Given the description of an element on the screen output the (x, y) to click on. 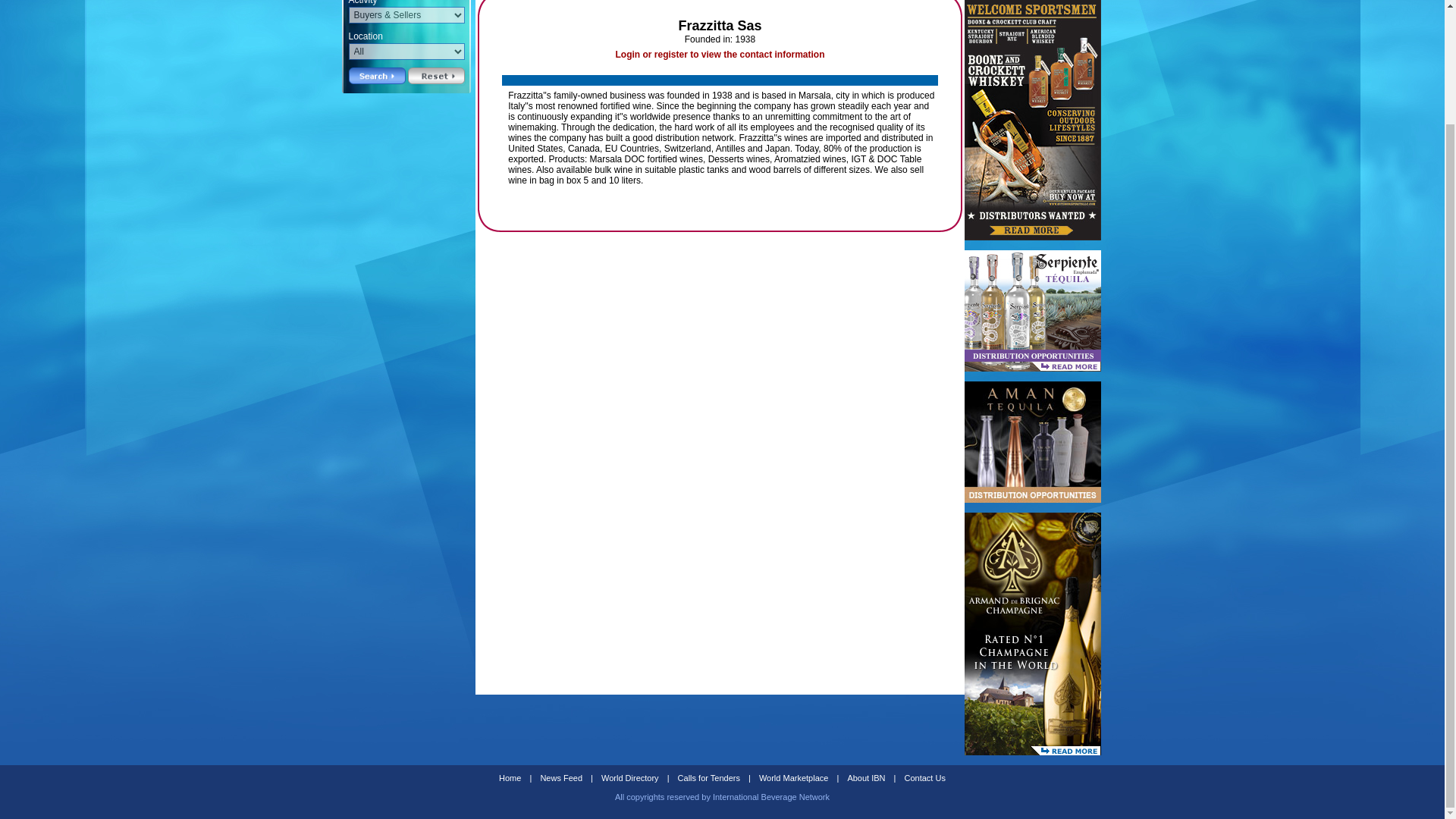
News Feed (561, 777)
Calls for Tenders (708, 777)
World Directory (630, 777)
Home (510, 777)
Login or register to view the contact information (719, 54)
World Directory (630, 777)
Calls for Tenders (708, 777)
About IBN (866, 777)
About IBN (866, 777)
News Feed (561, 777)
World Marketplace (793, 777)
World Marketplace (793, 777)
Contact Us (925, 777)
Contact Us (925, 777)
Home (510, 777)
